Given the description of an element on the screen output the (x, y) to click on. 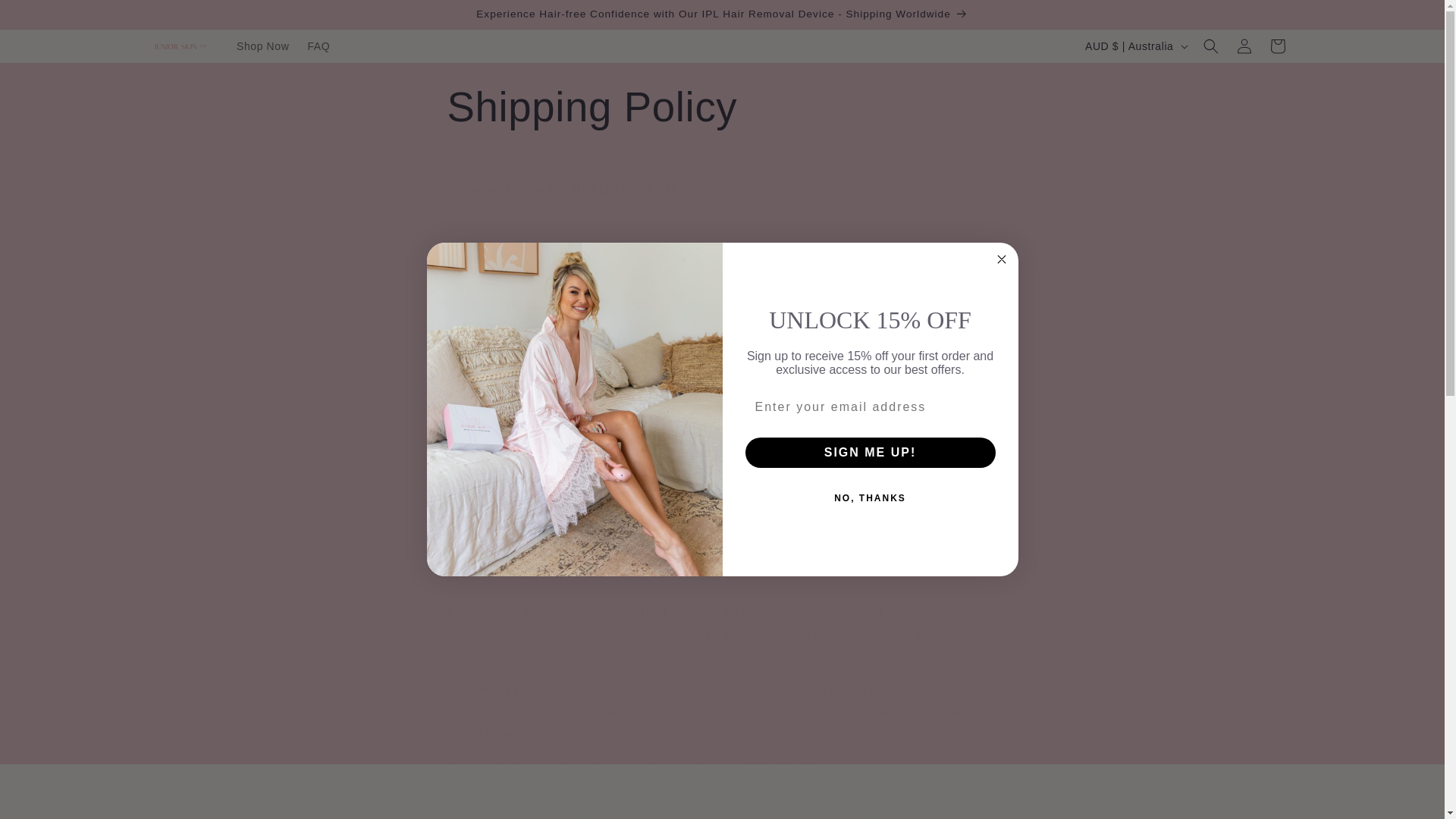
Log in (1243, 46)
Skip to content (45, 17)
SIGN ME UP! (869, 451)
Close dialog 1 (1000, 259)
Cart (1277, 46)
Close dialog 1 (1000, 259)
FAQ (318, 46)
NO, THANKS (869, 497)
Shipping Policy (721, 107)
Shop Now (262, 46)
Submit (21, 7)
